Given the description of an element on the screen output the (x, y) to click on. 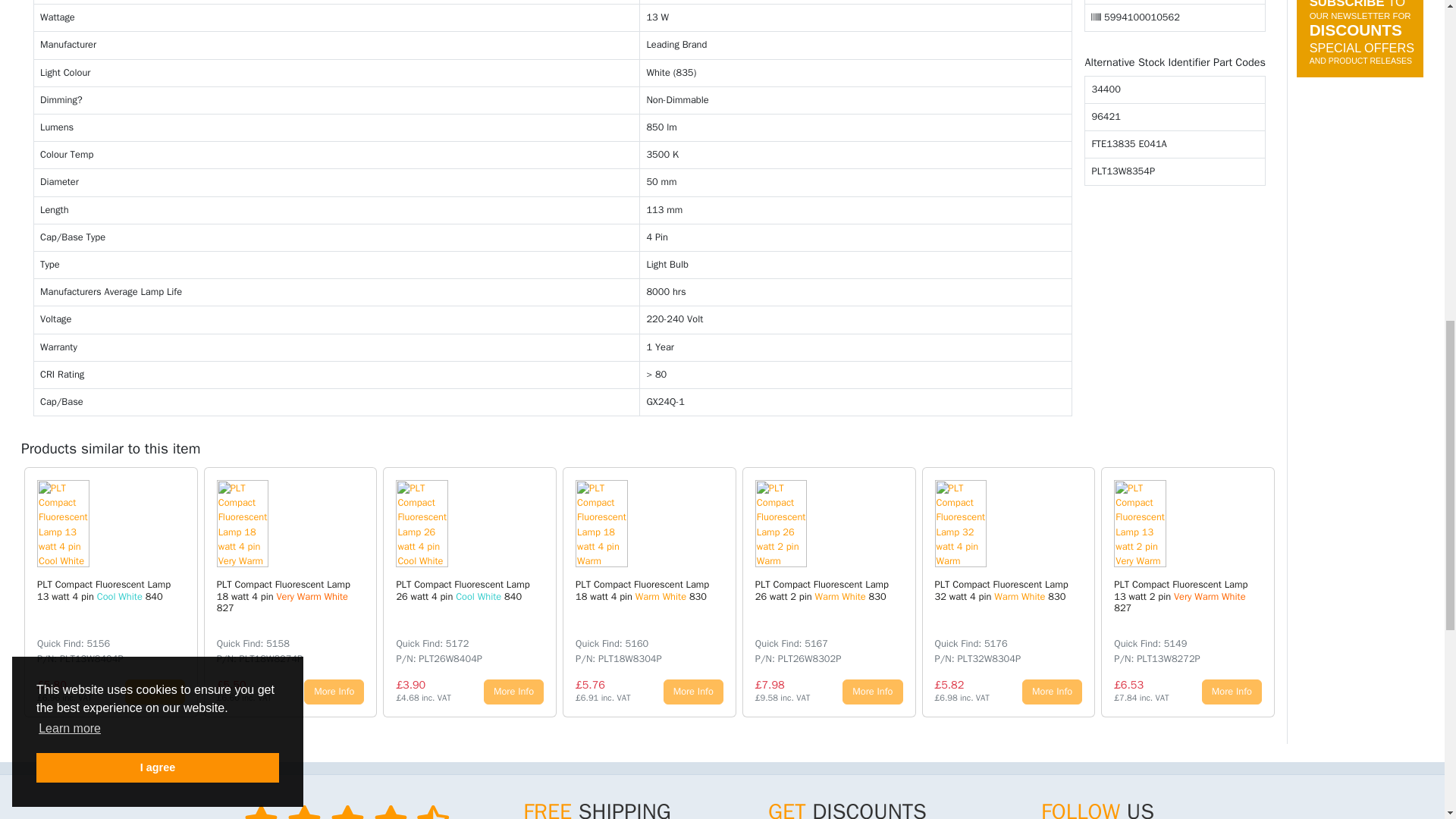
PLT Compact Fluorescent Lamp 13 watt 4 pin Cool White 840 (92, 523)
